Given the description of an element on the screen output the (x, y) to click on. 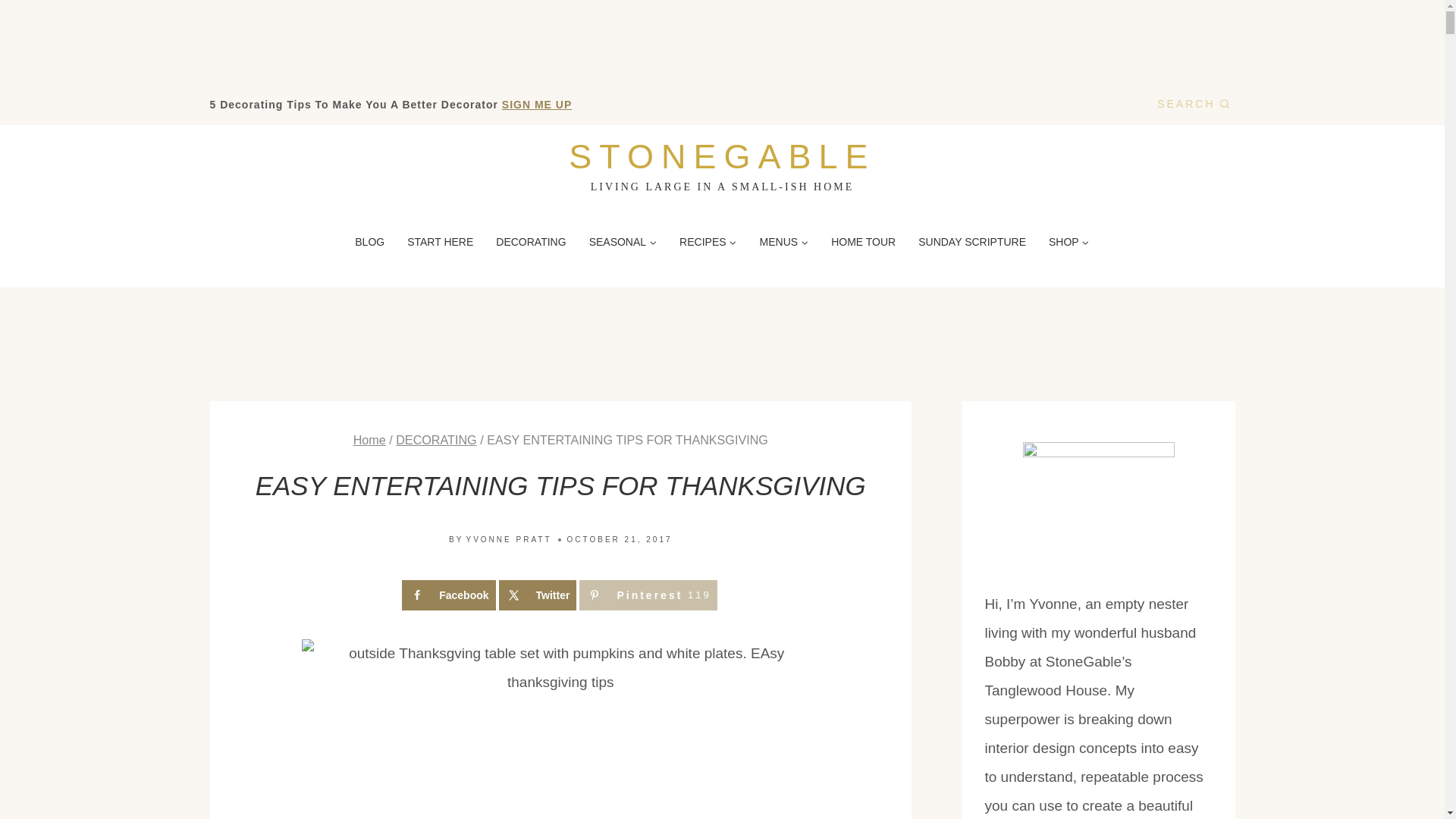
MENUS (784, 241)
SUNDAY SCRIPTURE (971, 241)
DECORATING (722, 164)
RECIPES (436, 439)
HOME TOUR (708, 241)
Share on Facebook (863, 241)
Facebook (448, 594)
BLOG (448, 594)
Home (369, 241)
DECORATING (369, 439)
SEARCH (530, 241)
START HERE (1192, 103)
SEASONAL (440, 241)
Share on X (623, 241)
